Given the description of an element on the screen output the (x, y) to click on. 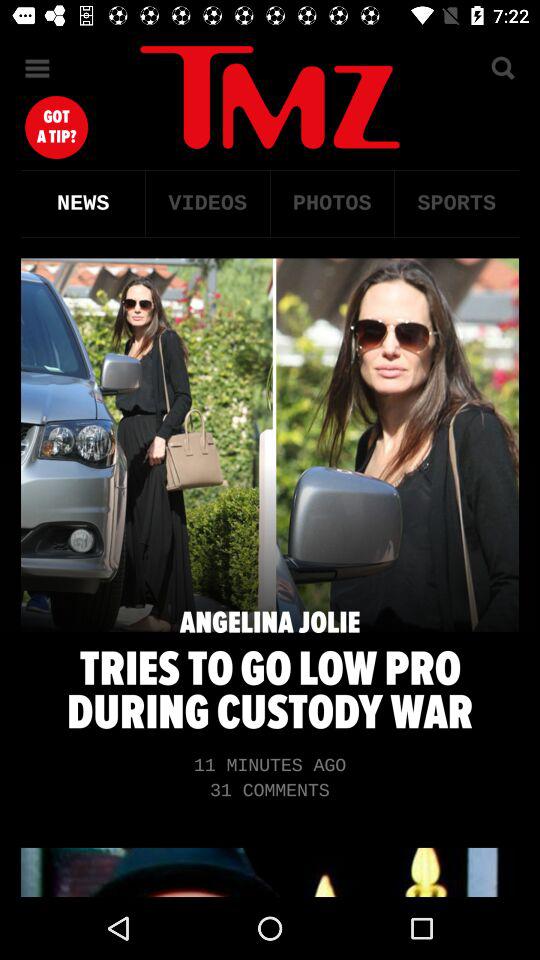
serttings (37, 68)
